Given the description of an element on the screen output the (x, y) to click on. 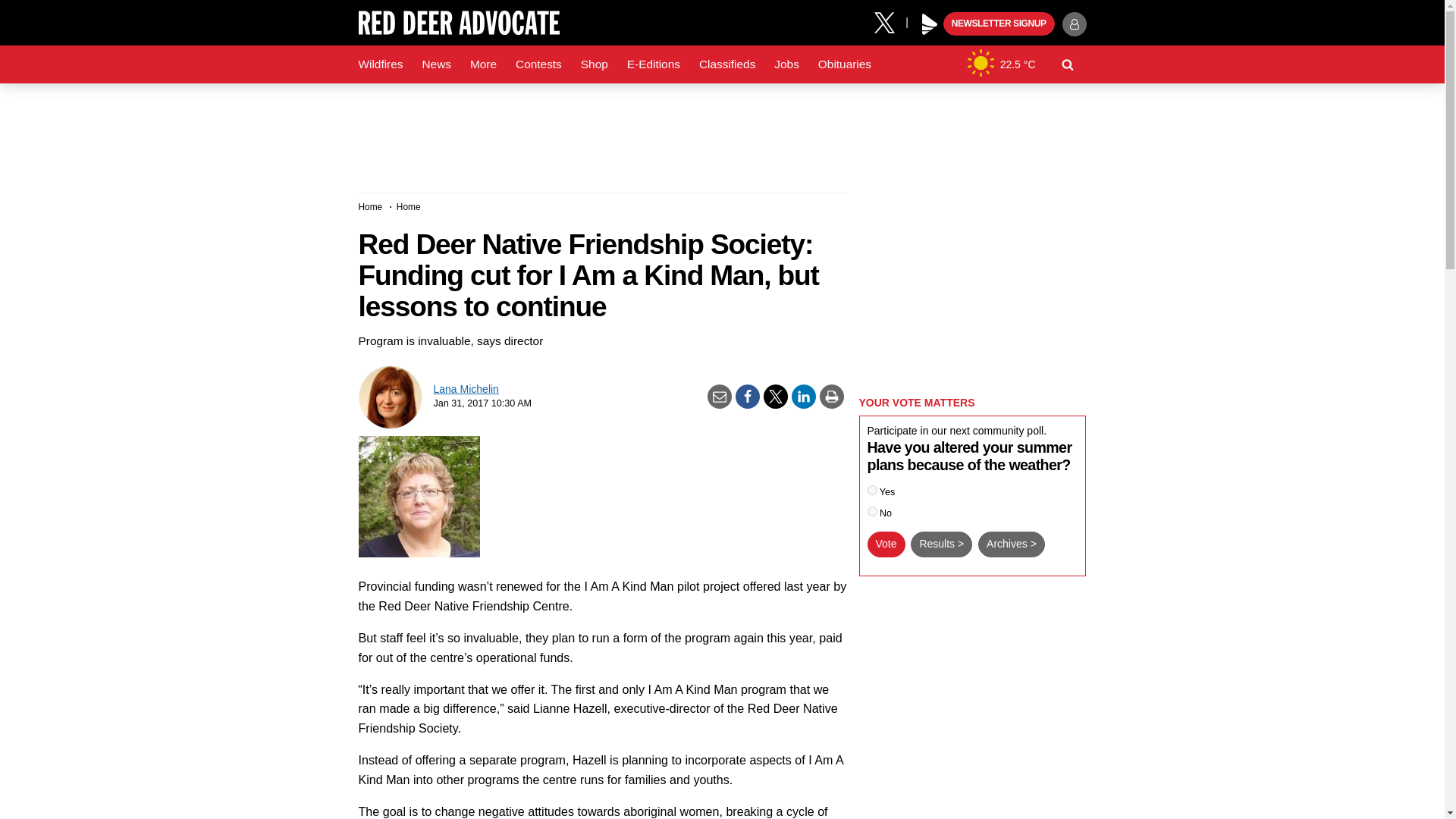
X (889, 21)
Play (929, 24)
241 (872, 490)
Wildfires (380, 64)
Black Press Media (929, 24)
News (435, 64)
242 (872, 511)
NEWSLETTER SIGNUP (998, 24)
